Given the description of an element on the screen output the (x, y) to click on. 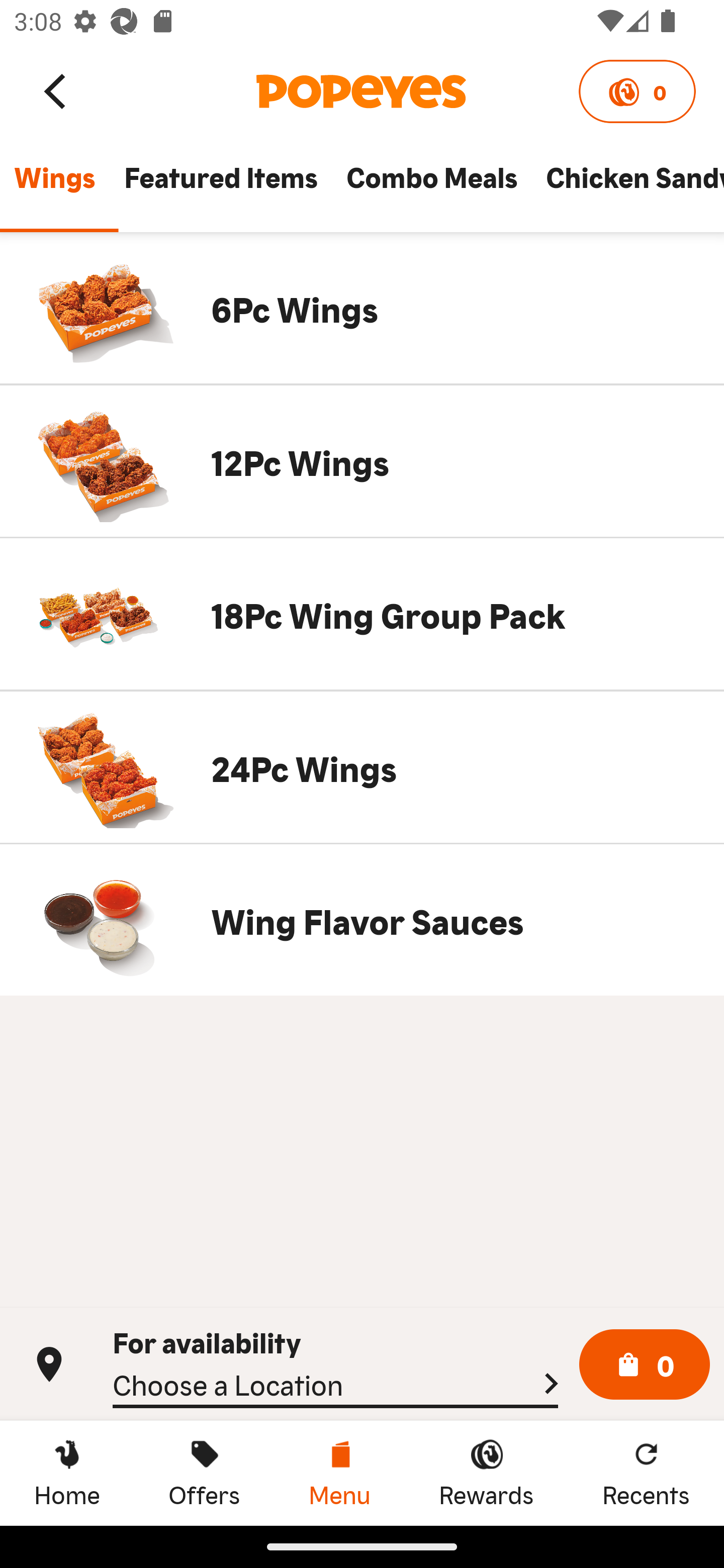
Back (56, 90)
0 Points 0 (636, 91)
Wings (54, 186)
Featured Items (220, 186)
Combo Meals (431, 186)
Chicken Sandwich   (627, 186)
0 Cart total  0 (644, 1364)
Home Home Home (66, 1472)
Offers Offers Offers (203, 1472)
Menu, current page Menu Menu, current page (339, 1472)
Rewards Rewards Rewards (486, 1472)
Recents Recents Recents (646, 1472)
